Given the description of an element on the screen output the (x, y) to click on. 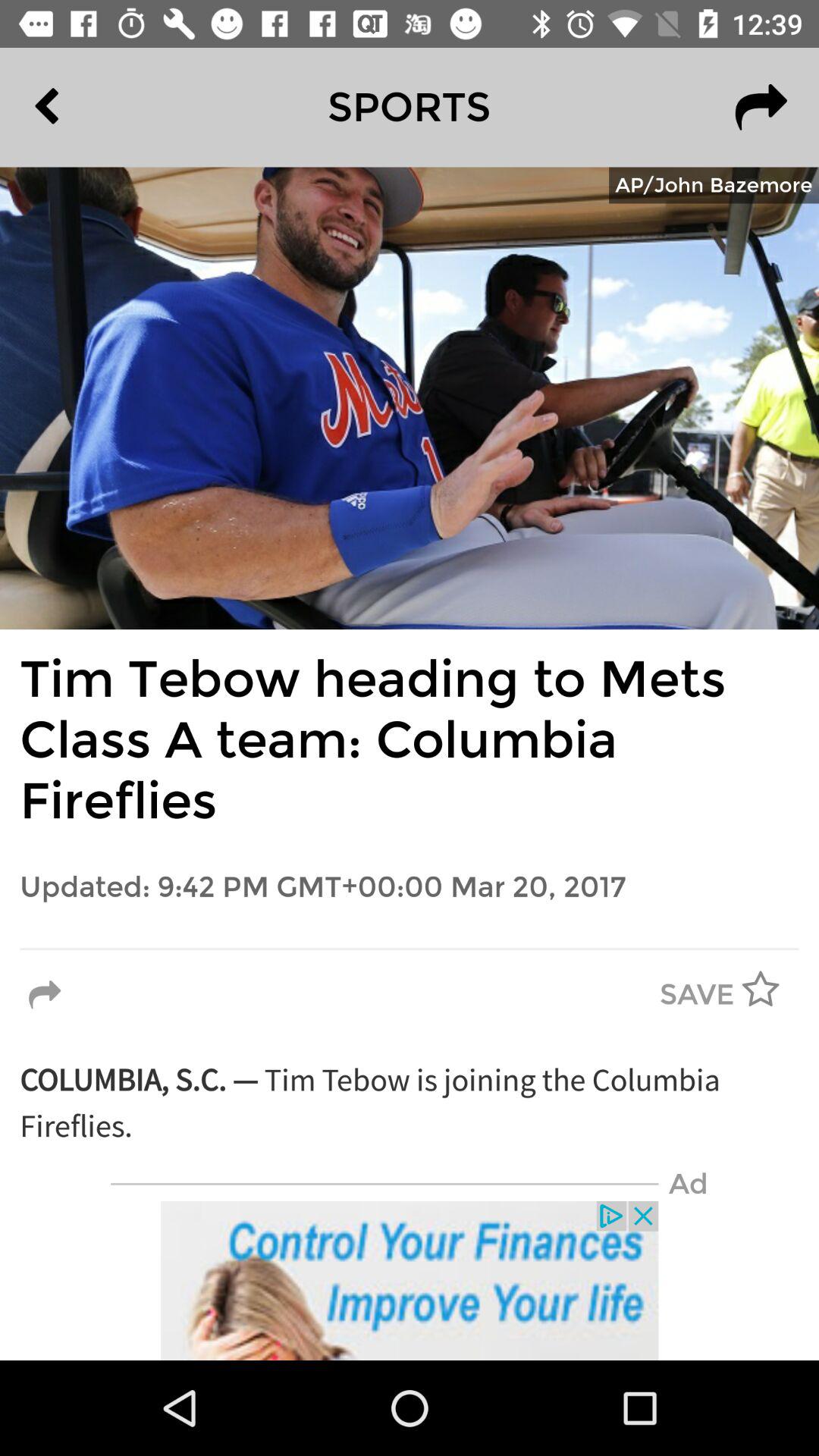
go to top right (761, 107)
click on icon which is left to save (48, 995)
